Given the description of an element on the screen output the (x, y) to click on. 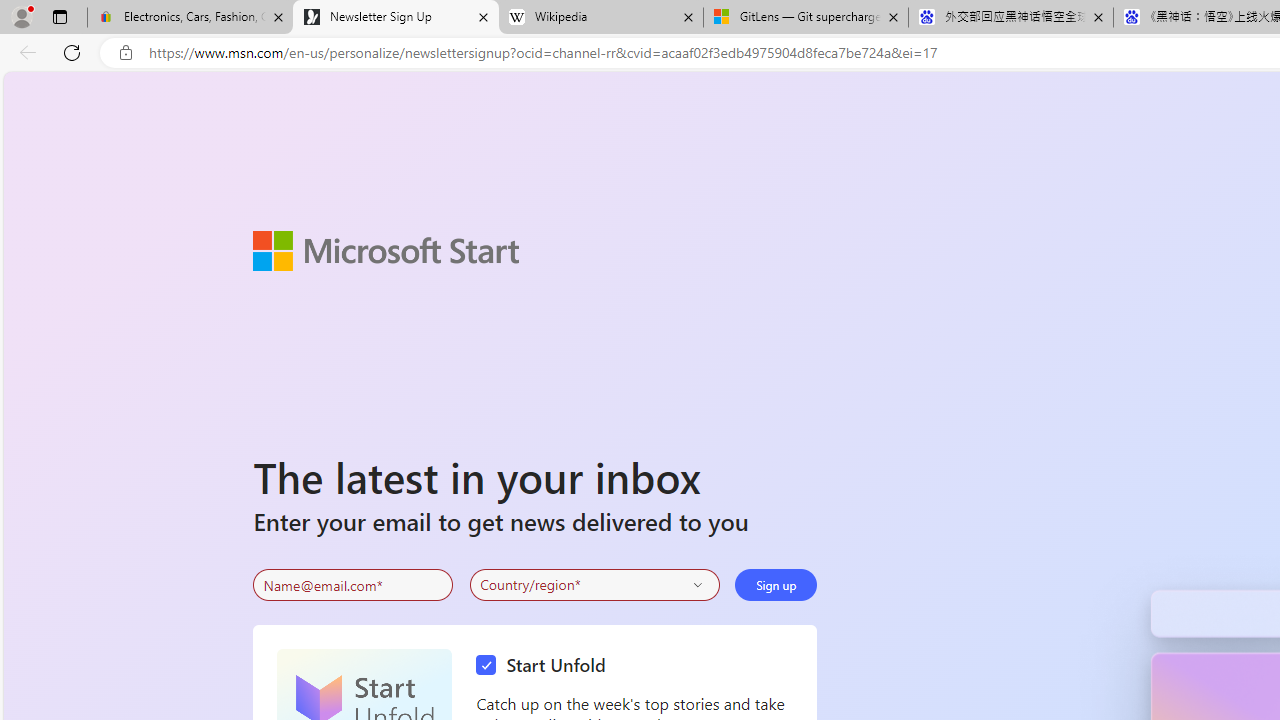
Select your country (594, 584)
Enter your email (353, 585)
Wikipedia (600, 17)
Electronics, Cars, Fashion, Collectibles & More | eBay (190, 17)
Sign up (775, 584)
Start Unfold (545, 665)
Newsletter Sign Up (395, 17)
